Given the description of an element on the screen output the (x, y) to click on. 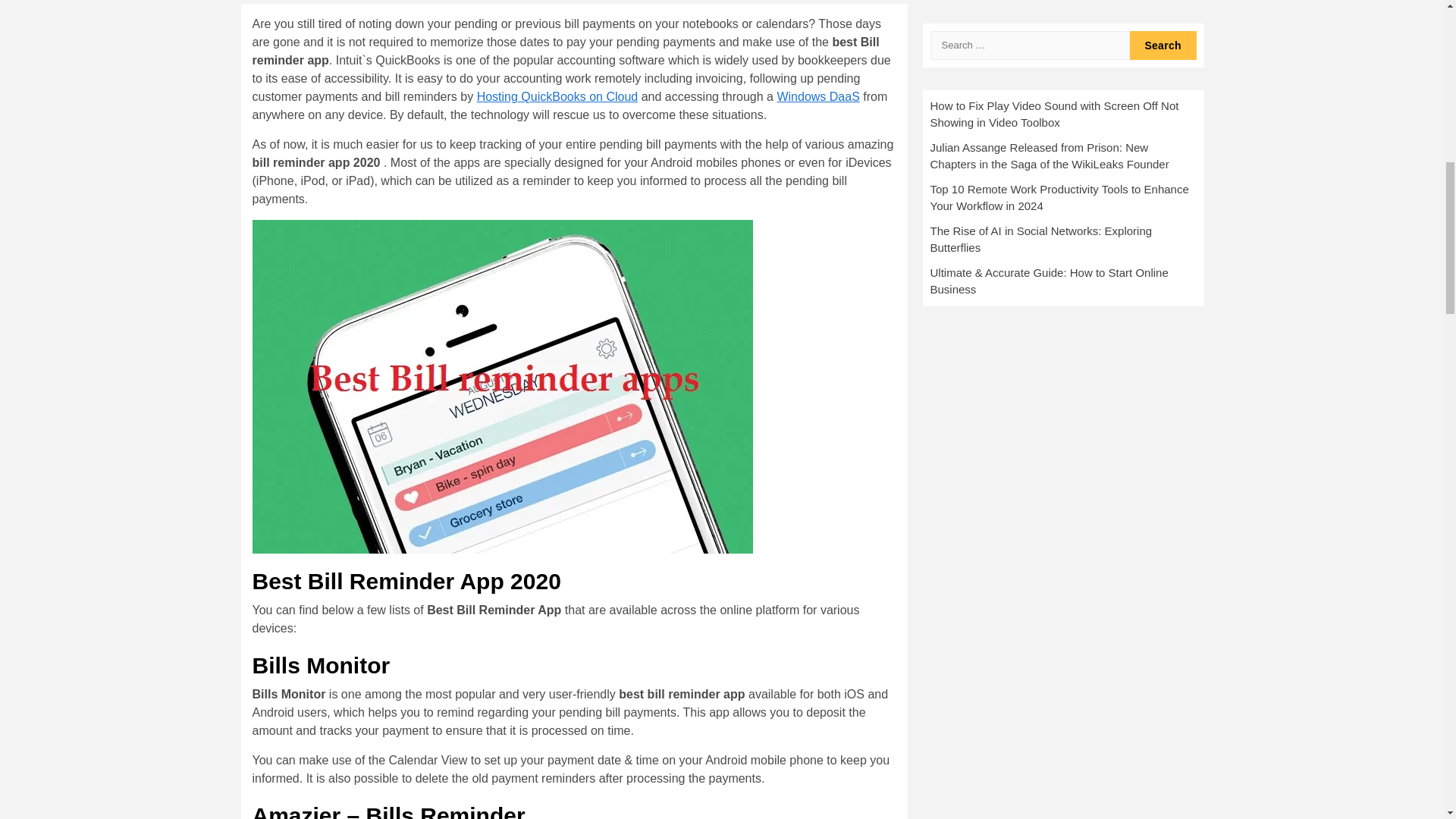
Windows DaaS (817, 96)
Hosting QuickBooks on Cloud (558, 96)
